Given the description of an element on the screen output the (x, y) to click on. 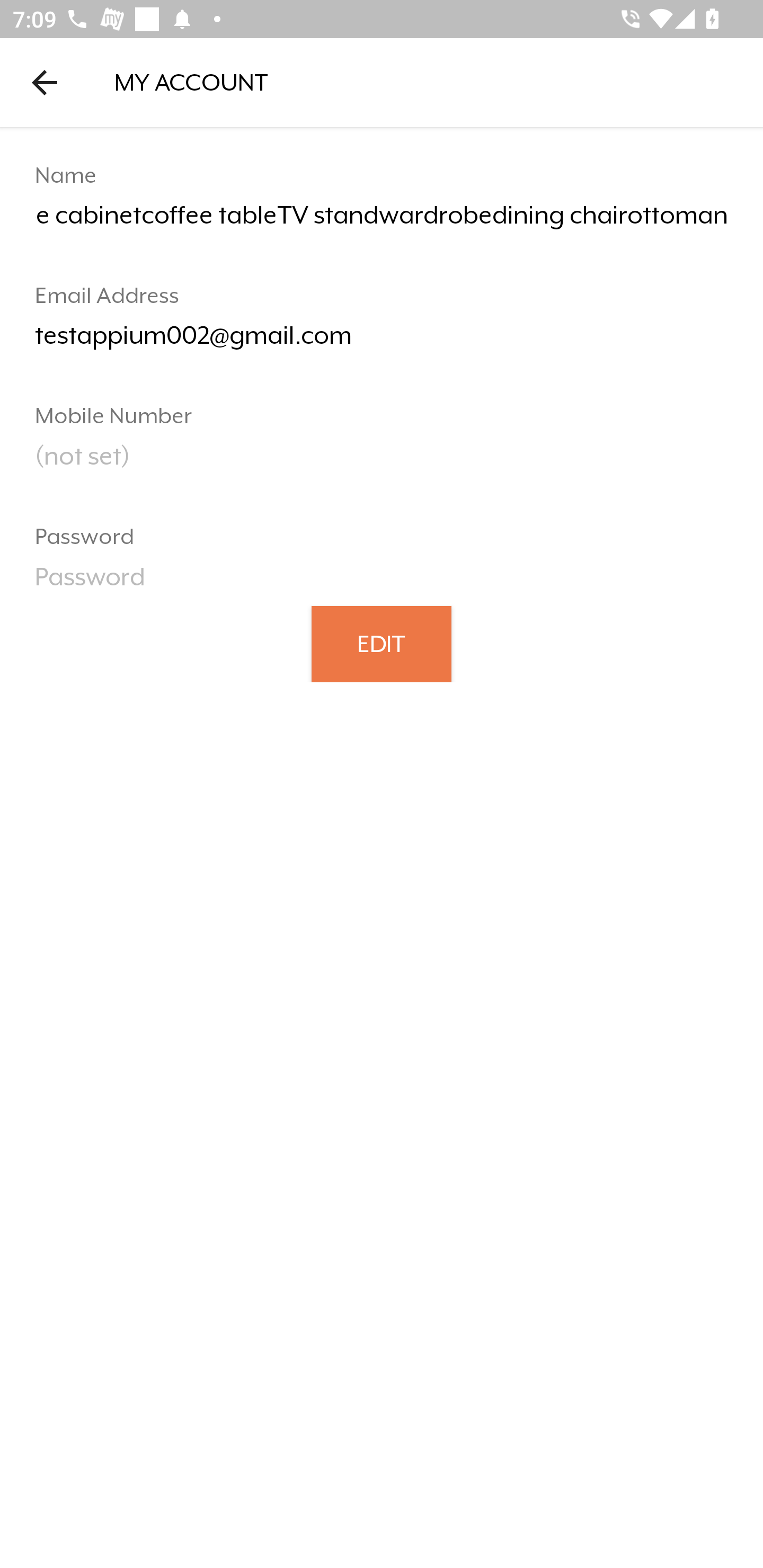
Navigate up (44, 82)
testappium002@gmail.com (381, 342)
Password (381, 583)
EDIT (381, 643)
